Given the description of an element on the screen output the (x, y) to click on. 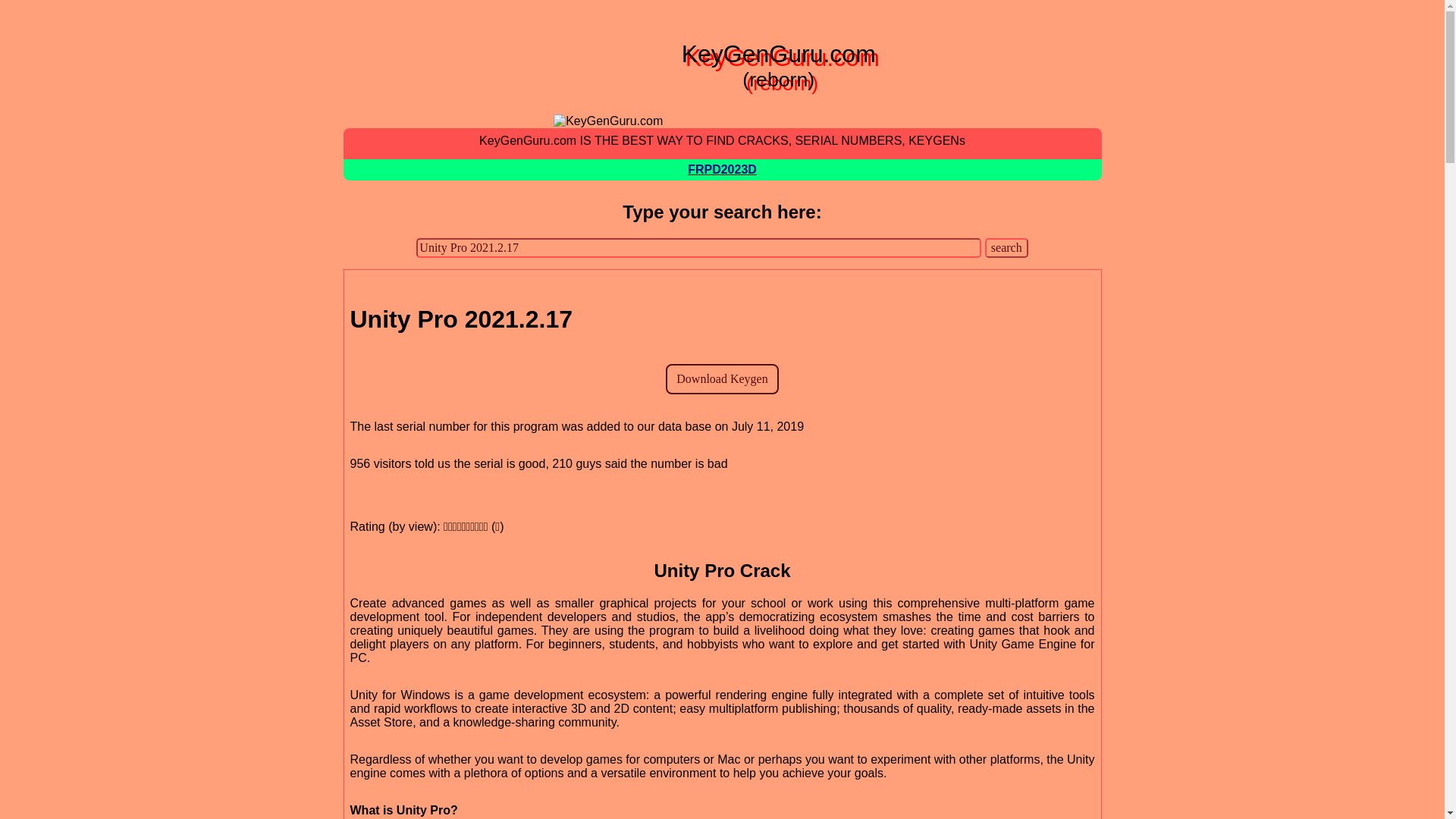
Download Keygen (721, 378)
search (1006, 247)
FRPD2023D (722, 174)
Download Keygen (721, 378)
search (1006, 247)
Unity Pro 2021.2.17 (698, 247)
